Given the description of an element on the screen output the (x, y) to click on. 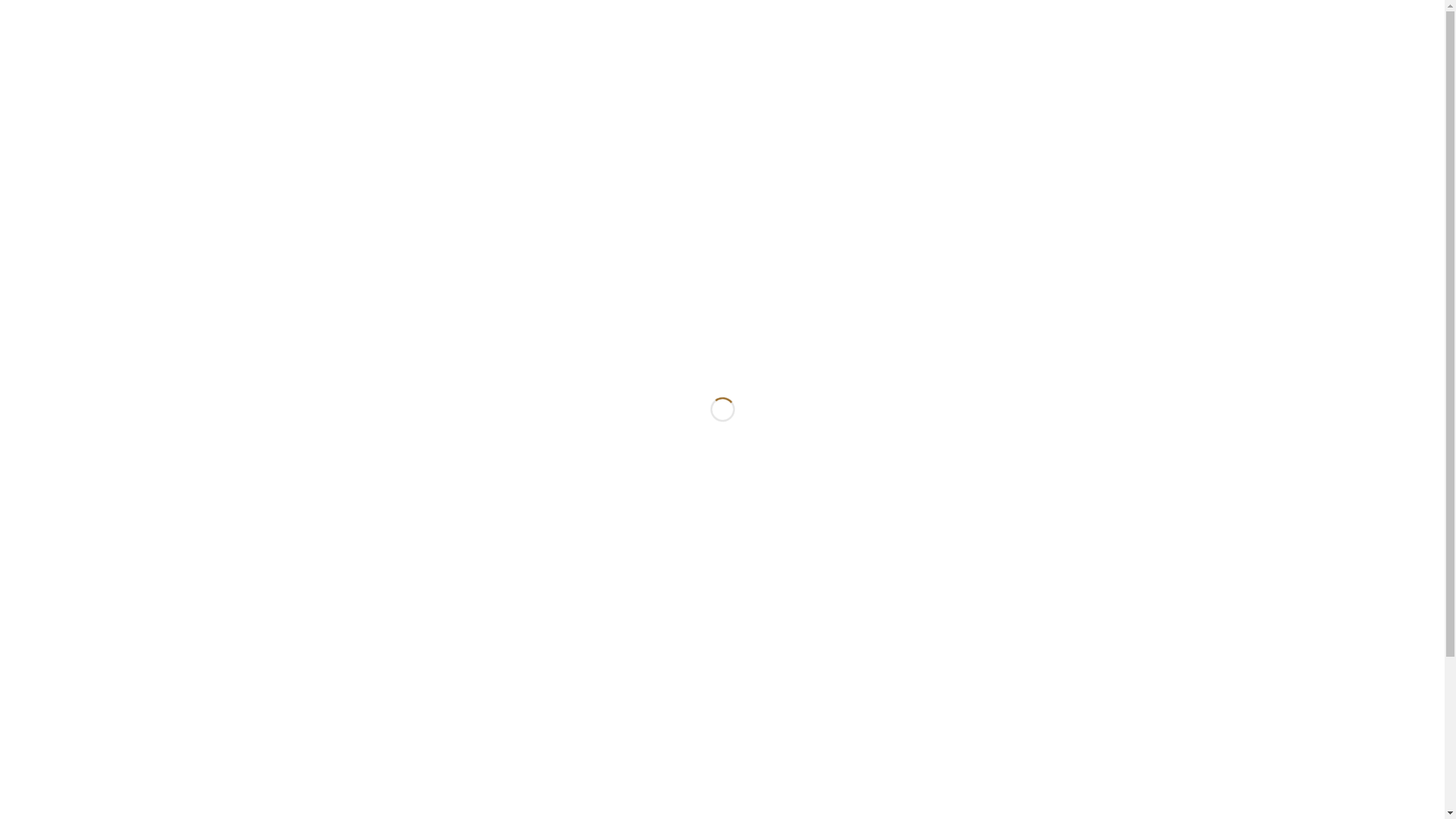
AWARDS Element type: text (864, 56)
CONTACT US Element type: text (851, 744)
TESTIMONIALS Element type: text (1036, 56)
PORTFOLIO Element type: text (942, 56)
CONTACT Element type: text (1127, 56)
VIEW OUR PORTFOLIO Element type: text (711, 744)
HOME Element type: text (799, 56)
